Given the description of an element on the screen output the (x, y) to click on. 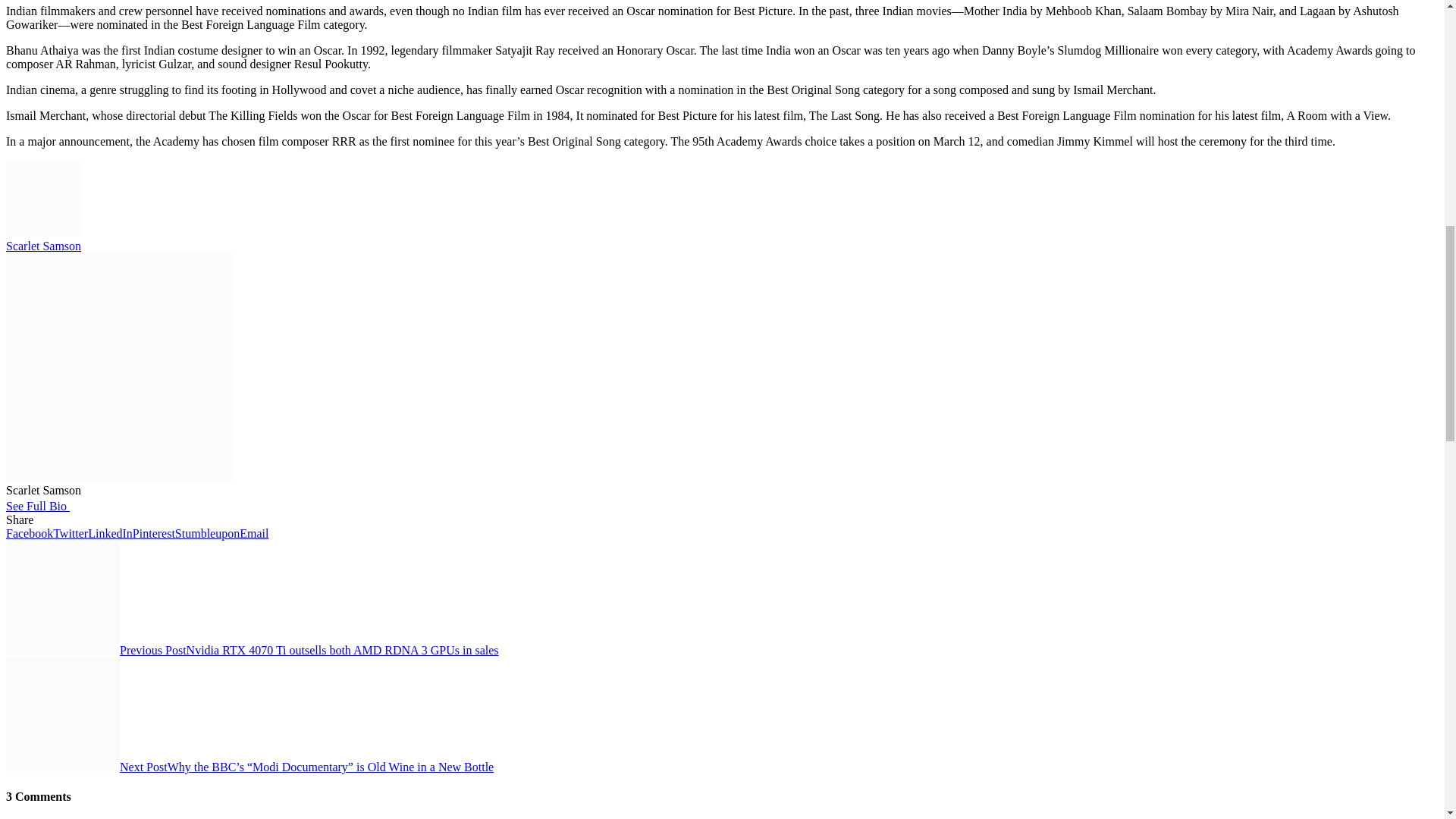
See Full Bio (35, 505)
Scarlet Samson (43, 245)
Stumbleupon (207, 533)
Twitter (69, 533)
Facebook (28, 533)
fPTnBJtwEre2dS42AxxA7U-320-80 - Kanil PRwire (62, 597)
LinkedIn (109, 533)
Zf4fW89P - Kanil PRwire (62, 714)
Pinterest (153, 533)
